Given the description of an element on the screen output the (x, y) to click on. 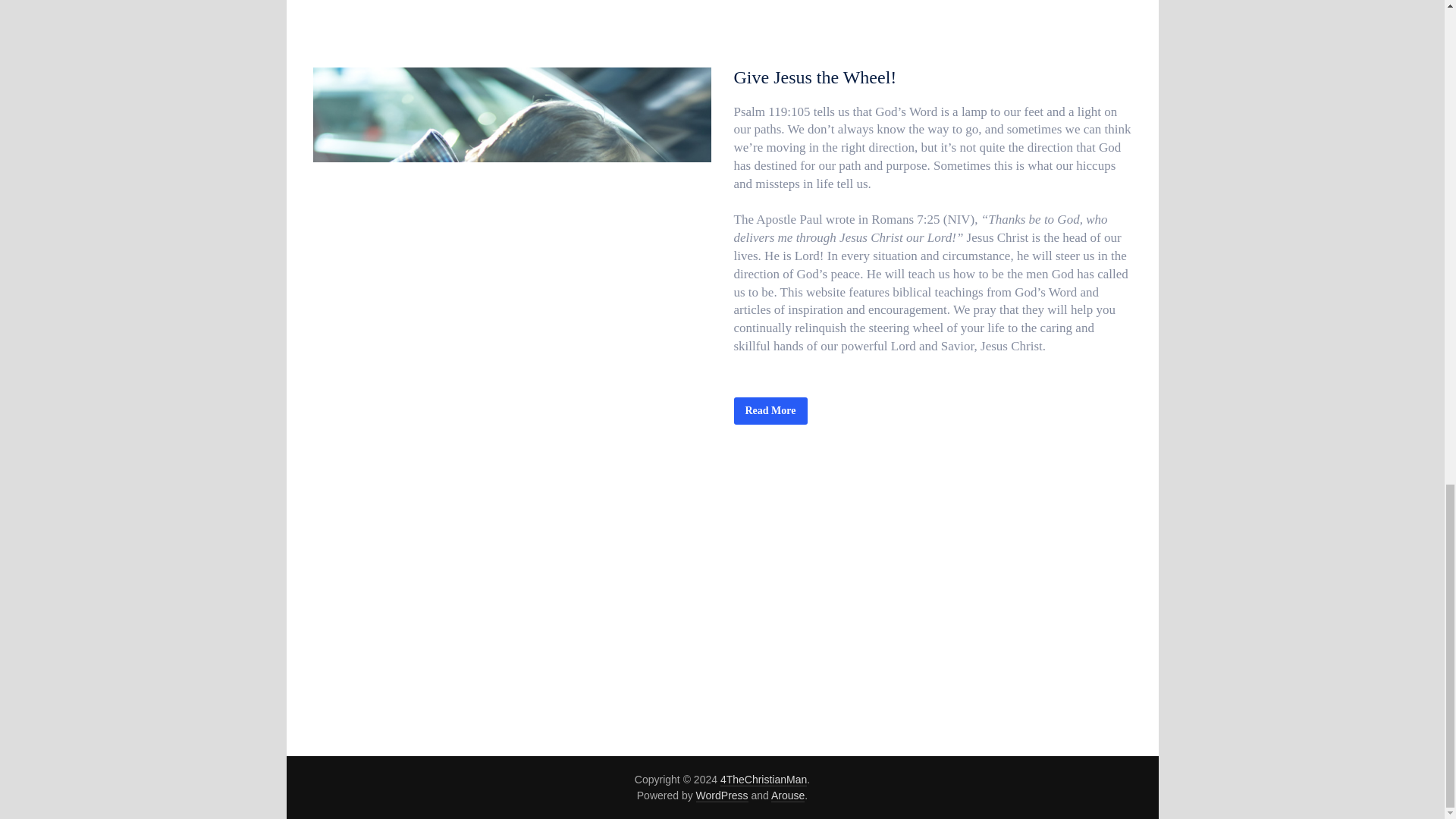
WordPress (721, 795)
4TheChristianMan (763, 779)
4TheChristianMan (763, 779)
Arouse (788, 795)
WordPress (721, 795)
Arouse WordPress Theme (788, 795)
Read More (770, 411)
